Given the description of an element on the screen output the (x, y) to click on. 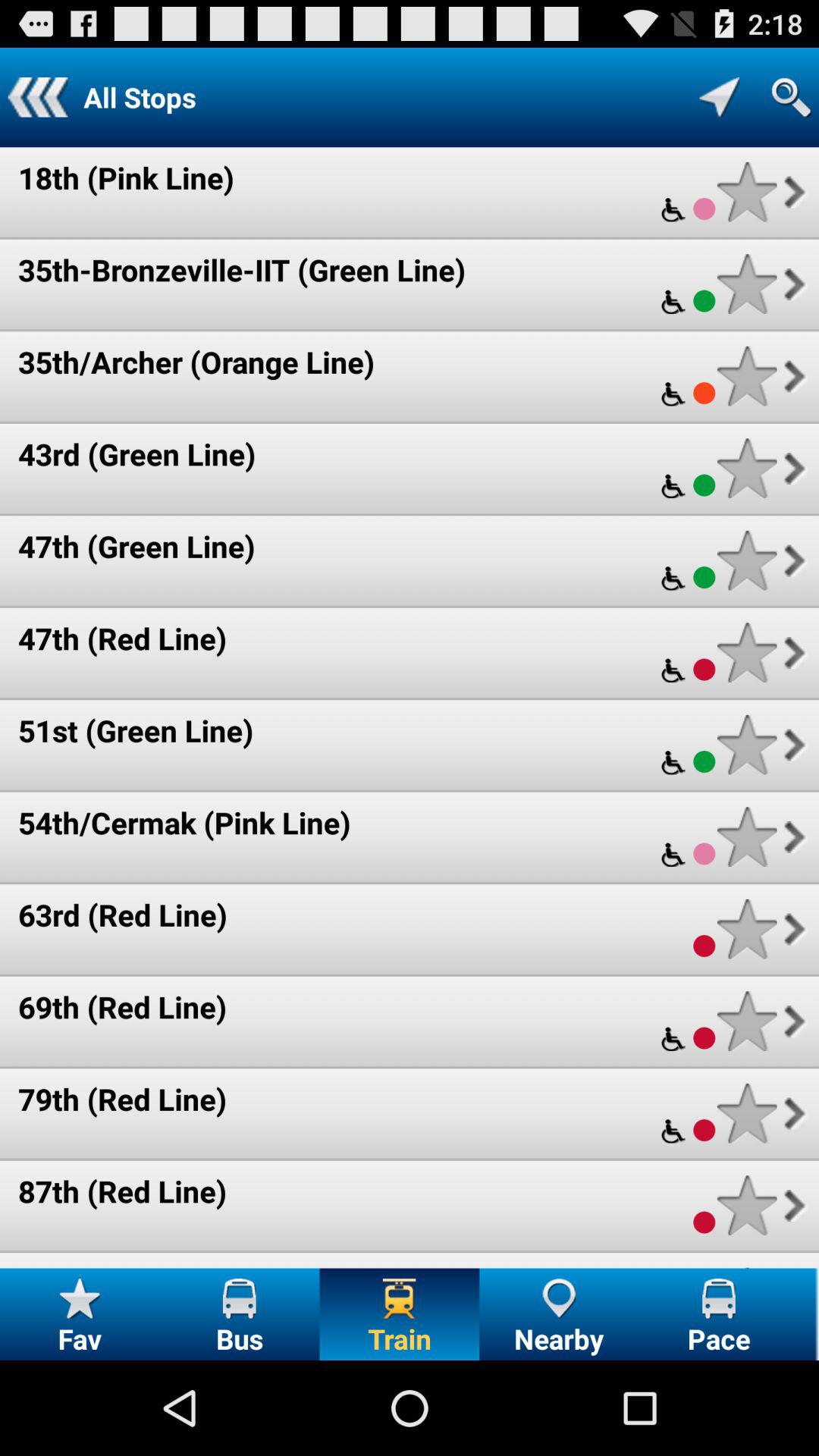
show all stops (719, 97)
